Given the description of an element on the screen output the (x, y) to click on. 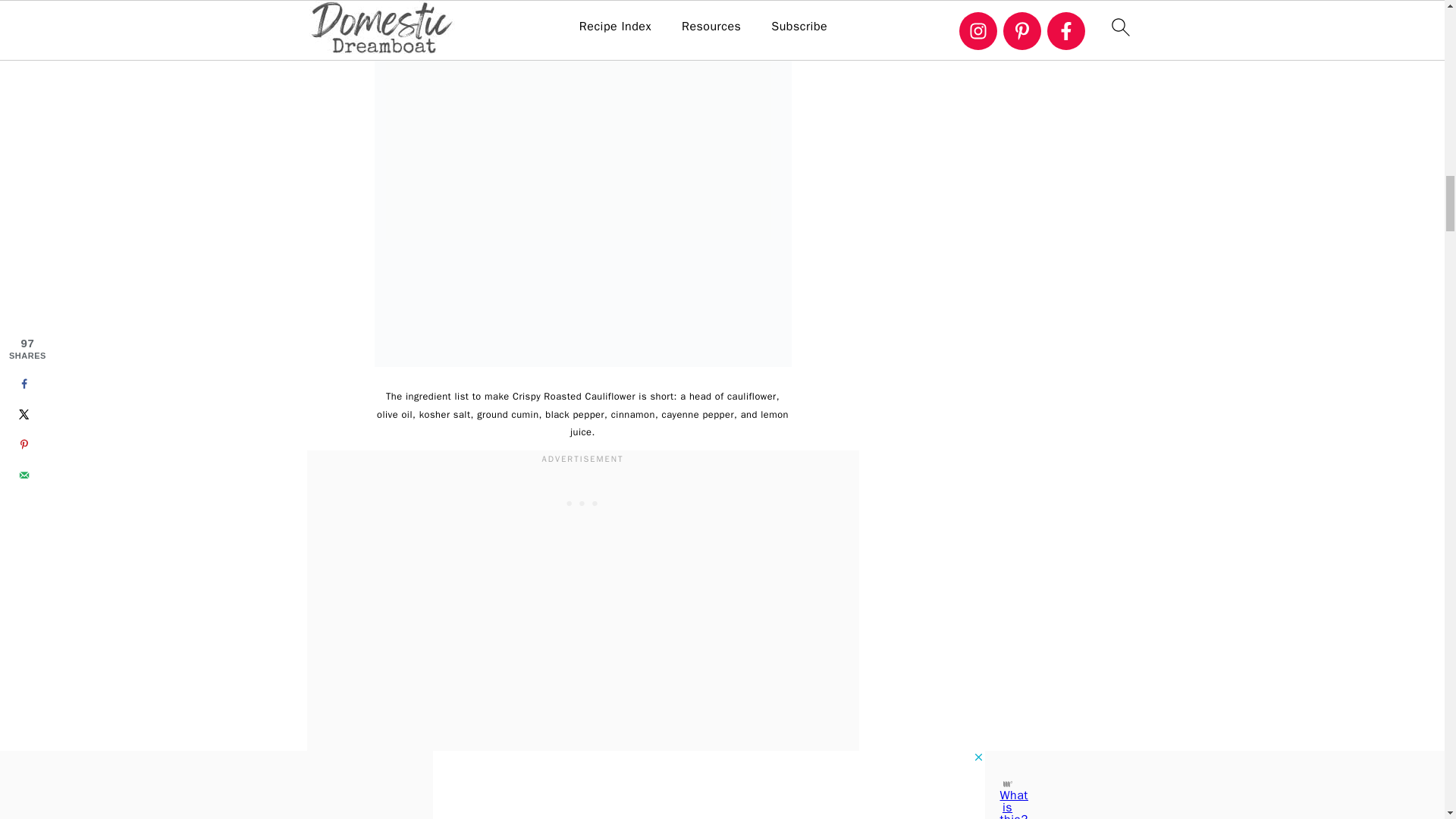
3rd party ad content (582, 502)
